Given the description of an element on the screen output the (x, y) to click on. 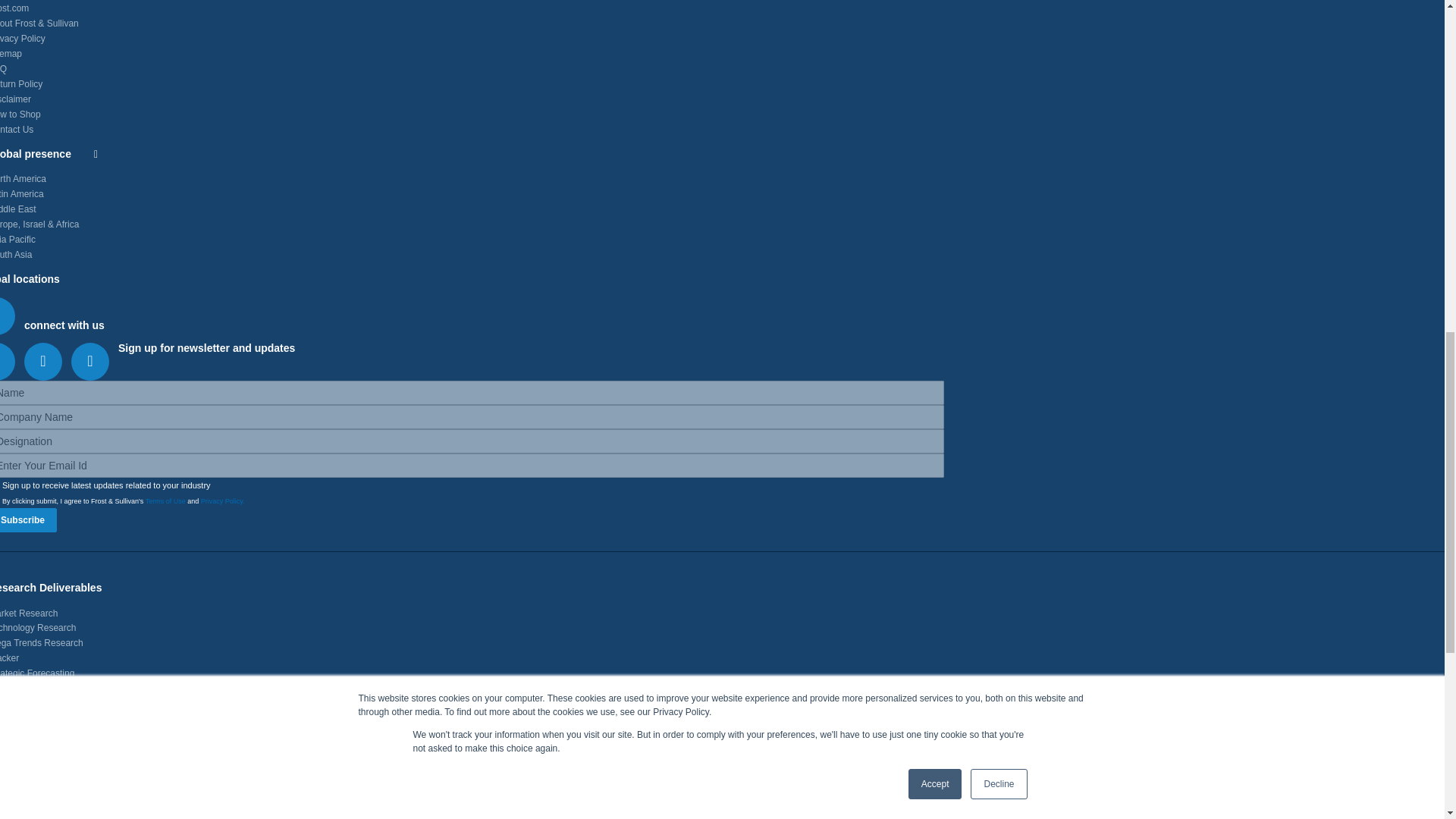
Designation (471, 441)
Company Name (471, 416)
Name (471, 392)
Email (471, 465)
